Given the description of an element on the screen output the (x, y) to click on. 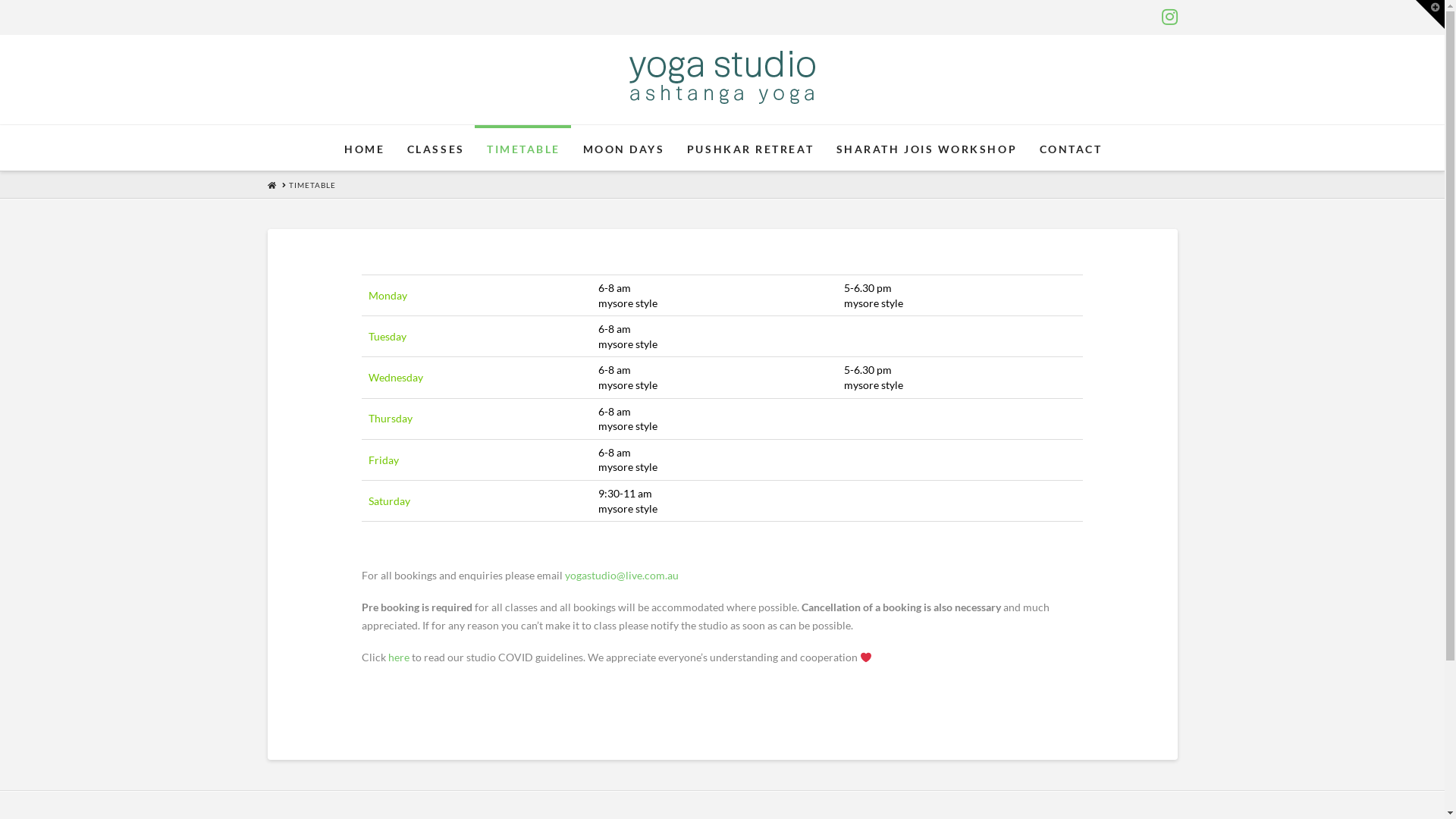
SHARATH JOIS WORKSHOP Element type: text (925, 147)
HOME Element type: text (271, 183)
PUSHKAR RETREAT Element type: text (749, 147)
Instagram Element type: hover (1169, 16)
yogastudio@live.com.au Element type: text (621, 574)
TIMETABLE Element type: text (522, 147)
Toggle the Widgetbar Element type: text (1429, 14)
CLASSES Element type: text (434, 147)
HOME Element type: text (363, 147)
here Element type: text (398, 656)
MOON DAYS Element type: text (622, 147)
CONTACT Element type: text (1069, 147)
TIMETABLE Element type: text (311, 183)
